Given the description of an element on the screen output the (x, y) to click on. 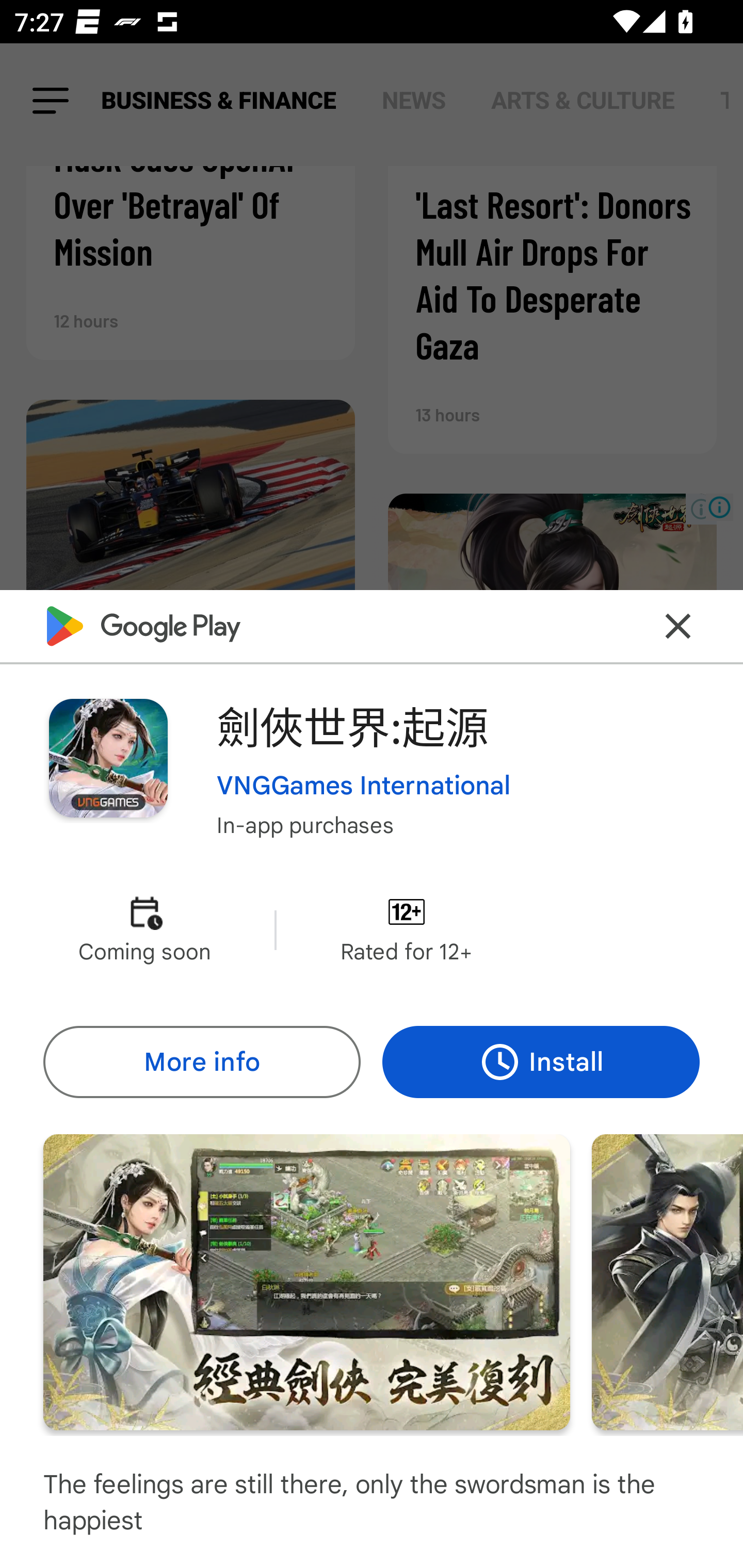
Close (677, 625)
Image of app or game icon for 劍俠世界:起源 (108, 758)
VNGGames International (363, 784)
More info (201, 1061)
Install (540, 1061)
Screenshot "1" of "5" (306, 1281)
